Given the description of an element on the screen output the (x, y) to click on. 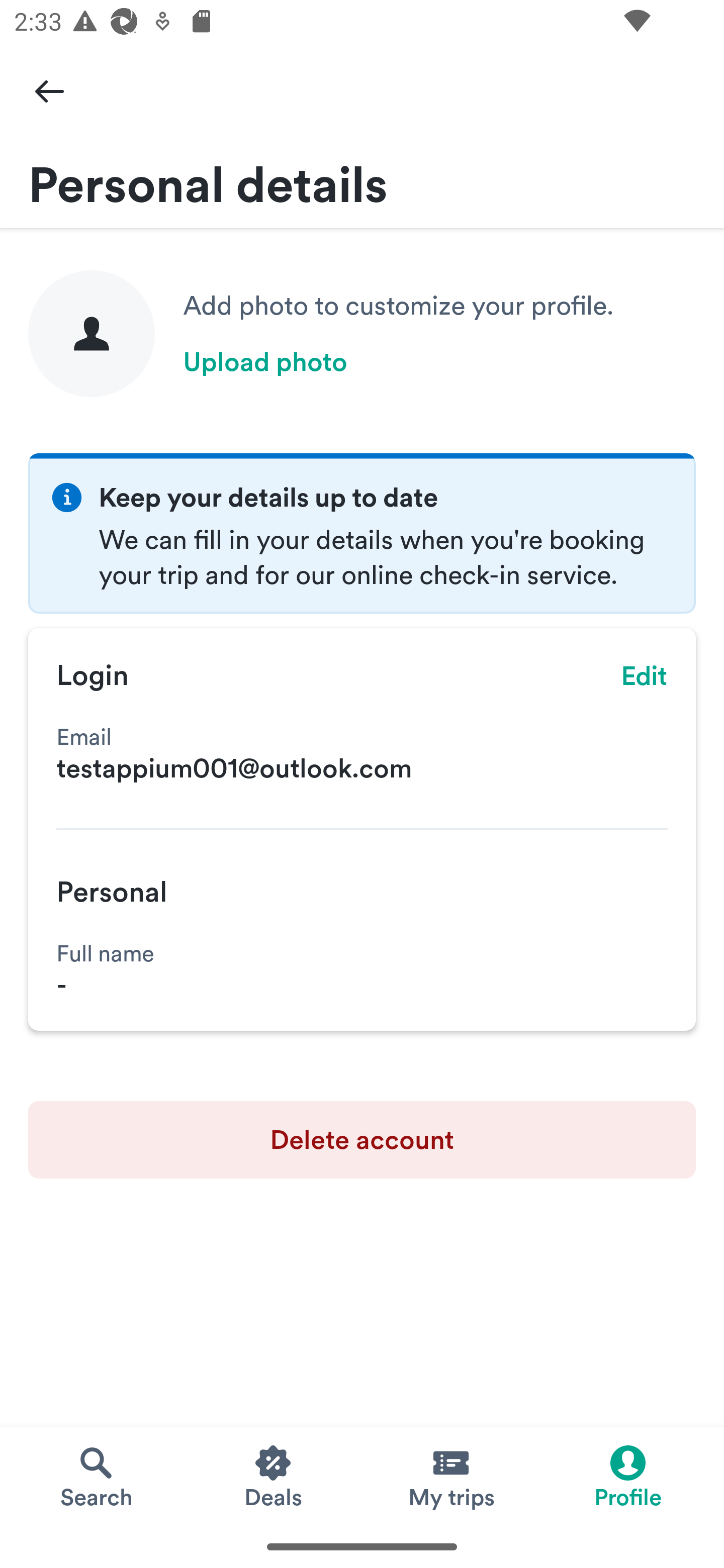
Navigate up (49, 90)
profile picture (91, 332)
Upload photo (265, 361)
Edit (644, 675)
Delete account (361, 1139)
Search (95, 1475)
Deals (273, 1475)
My trips (450, 1475)
